Given the description of an element on the screen output the (x, y) to click on. 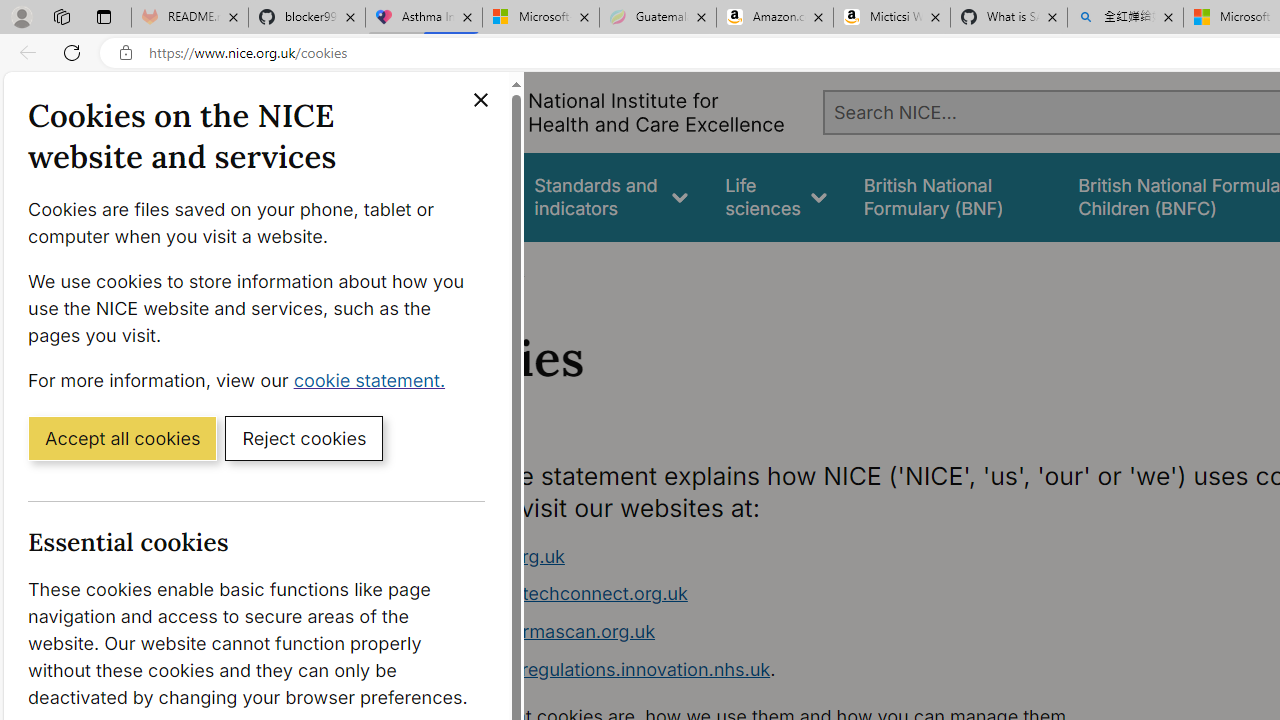
www.nice.org.uk (796, 556)
Reject cookies (304, 437)
Home> (433, 268)
